Given the description of an element on the screen output the (x, y) to click on. 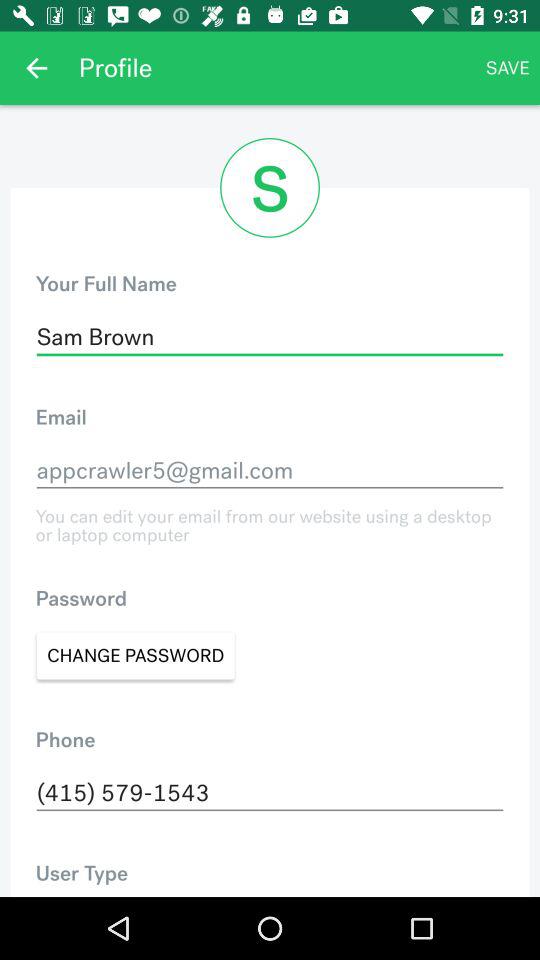
tap change password icon (135, 655)
